Given the description of an element on the screen output the (x, y) to click on. 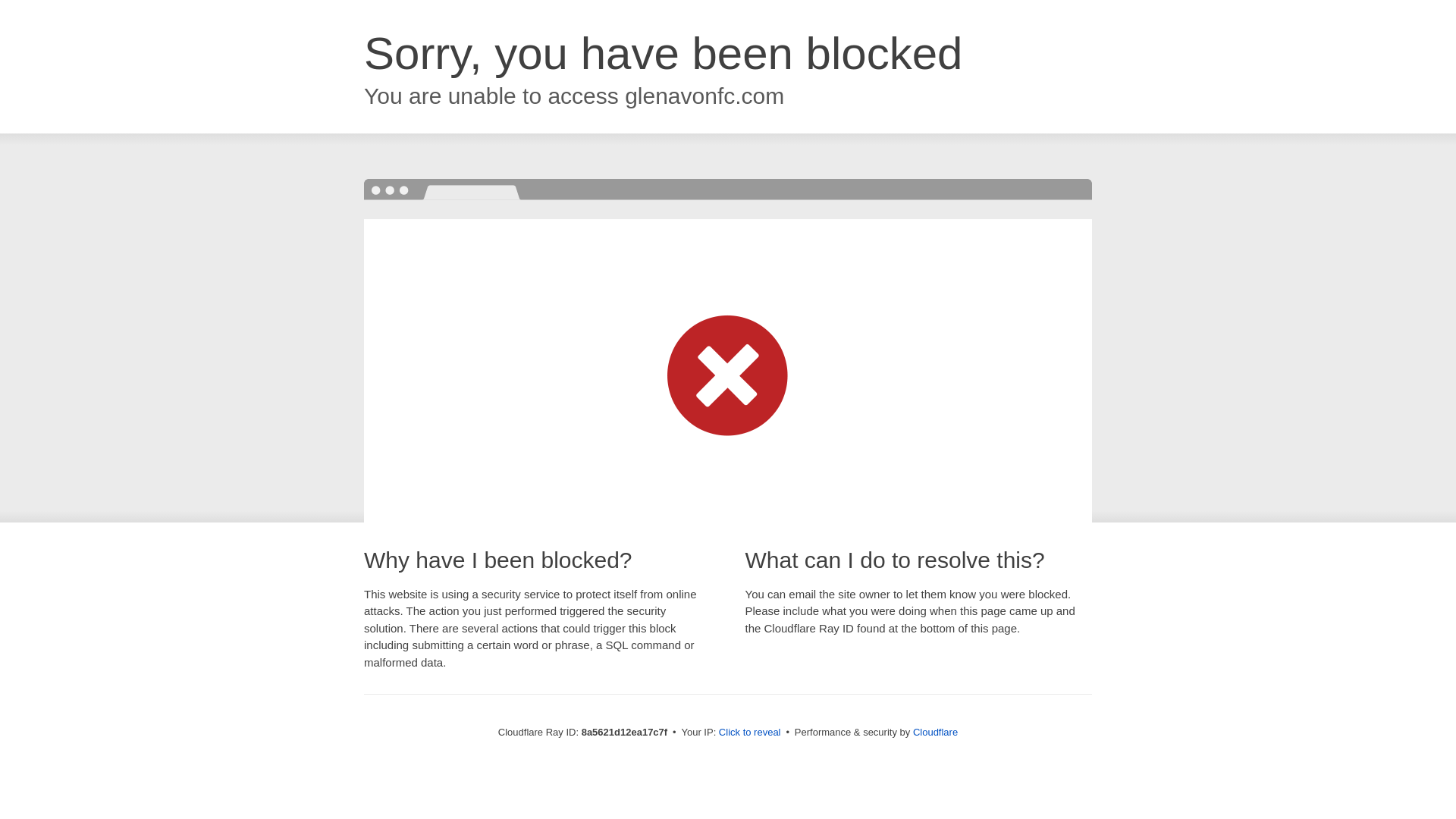
Cloudflare (935, 731)
Click to reveal (749, 732)
